Given the description of an element on the screen output the (x, y) to click on. 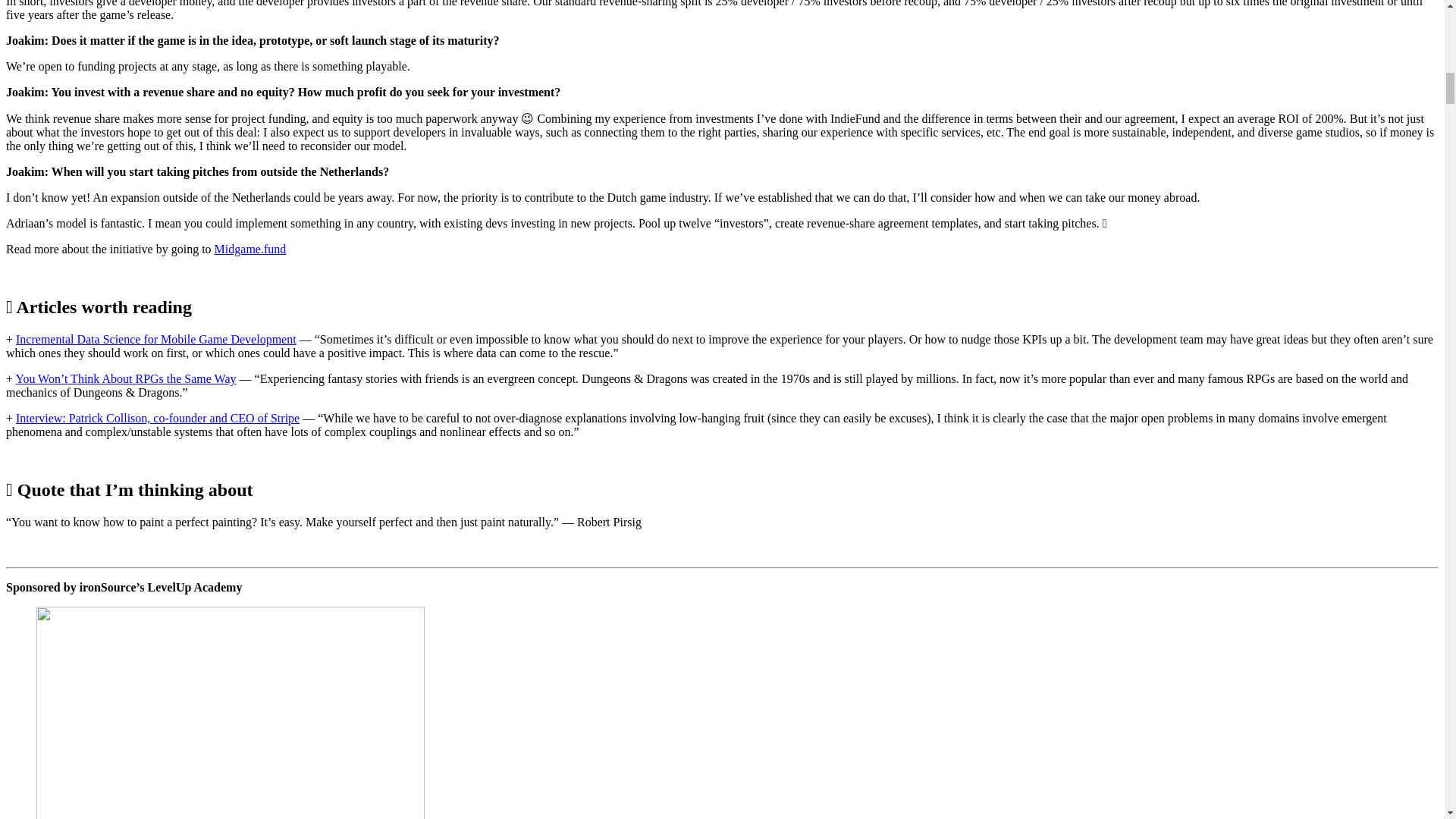
Incremental Data Science for Mobile Game Development (156, 338)
Interview: Patrick Collison, co-founder and CEO of Stripe (157, 418)
Midgame.fund (250, 248)
